Given the description of an element on the screen output the (x, y) to click on. 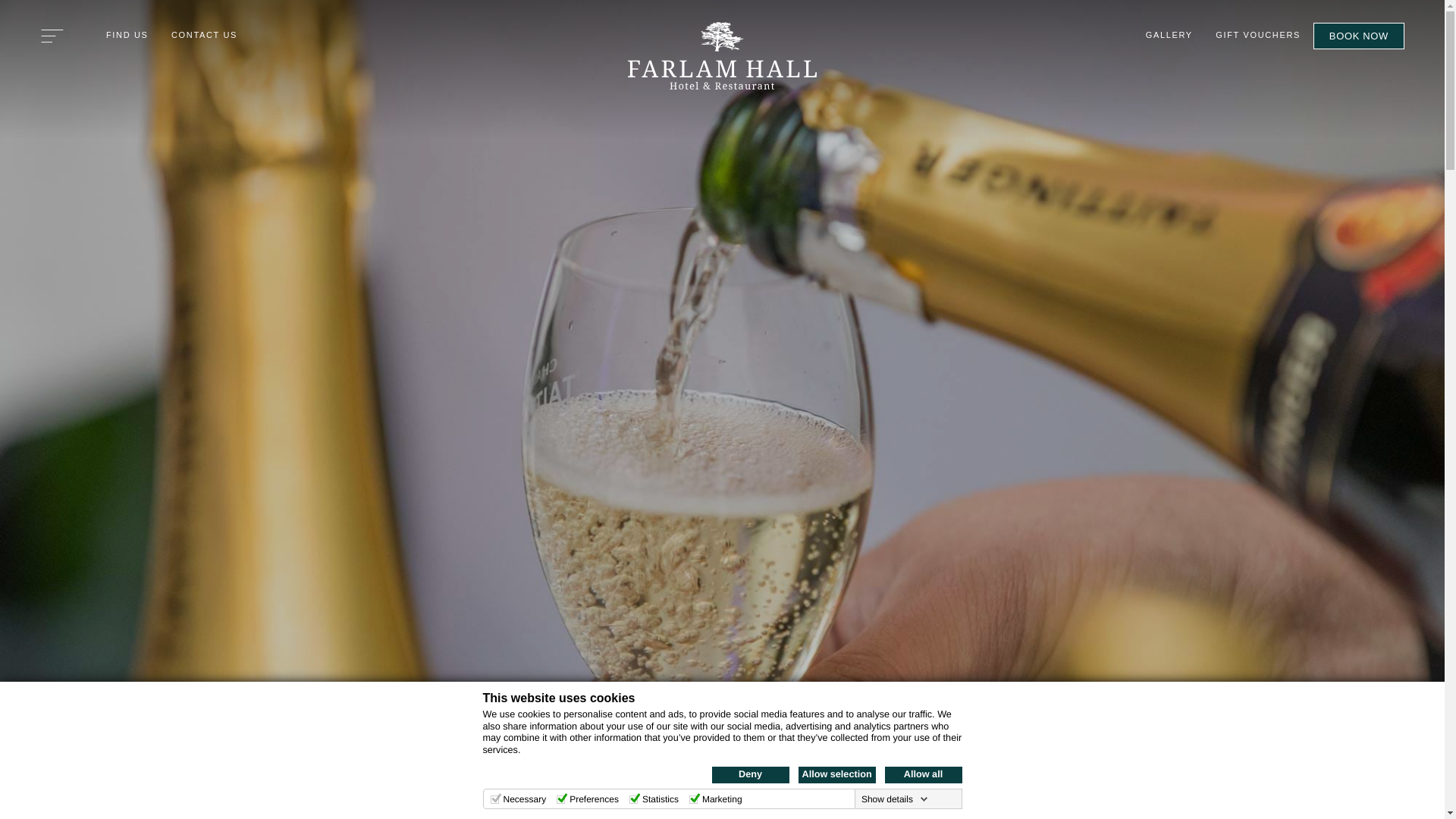
Deny (750, 774)
Allow all (921, 774)
Show details (895, 799)
Allow selection (836, 774)
